Given the description of an element on the screen output the (x, y) to click on. 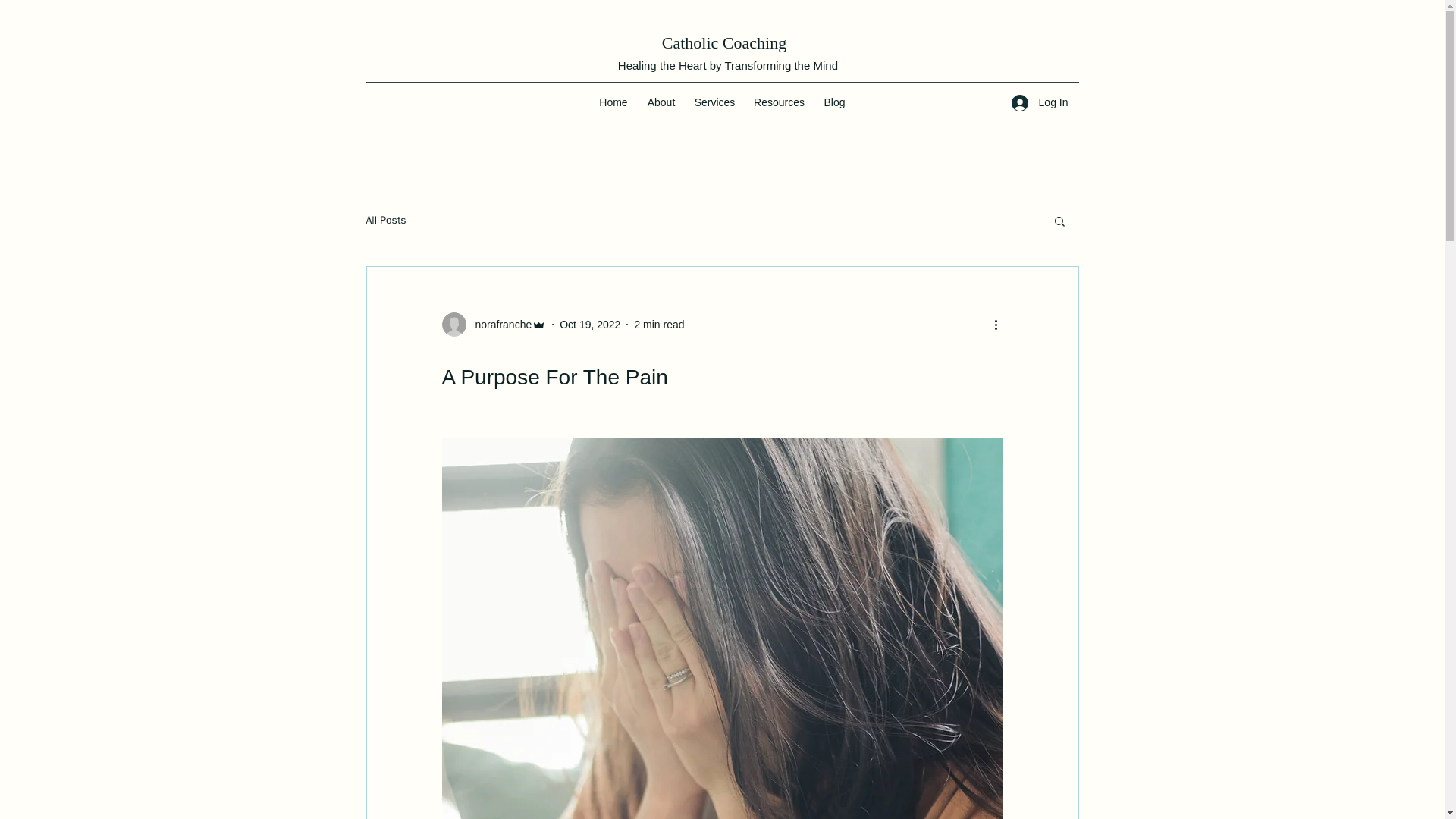
2 min read (658, 324)
Blog (834, 101)
About (660, 101)
Log In (1039, 102)
norafranche (493, 324)
Resources (778, 101)
Oct 19, 2022 (589, 324)
norafranche (498, 324)
Services (714, 101)
Home (613, 101)
All Posts (385, 220)
